Given the description of an element on the screen output the (x, y) to click on. 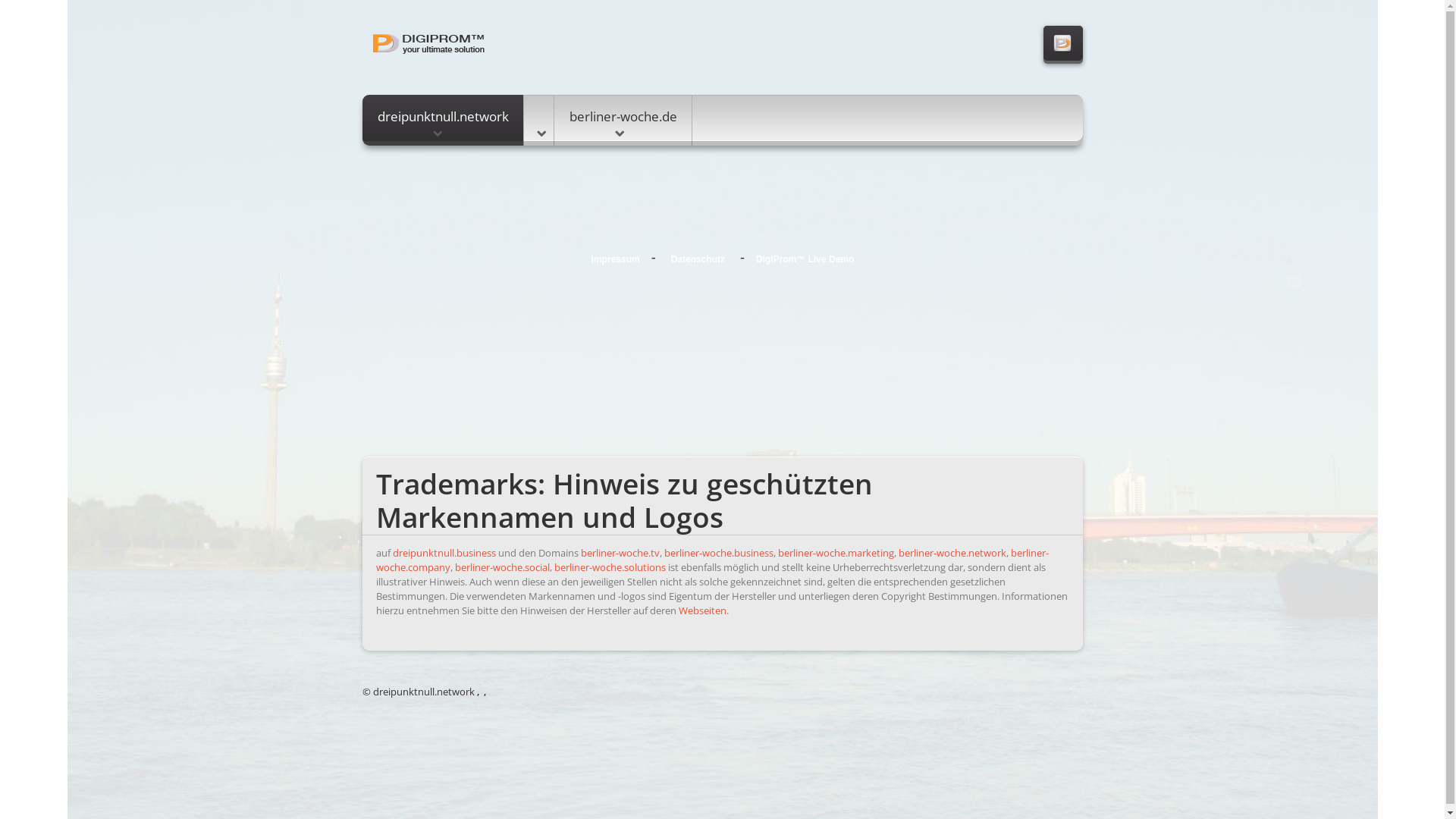
berliner-woche.company Element type: text (712, 560)
berliner-woche.tv Element type: text (619, 552)
berliner-woche.de Element type: text (622, 119)
dreipunktnull.network Element type: text (443, 119)
berliner-woche.business Element type: text (718, 552)
berliner-woche.social Element type: text (502, 567)
berliner-woche.marketing Element type: text (836, 552)
dreipunktnull.business Element type: text (443, 552)
Webseiten. Element type: text (702, 610)
berliner-woche.network Element type: text (951, 552)
berliner-woche.solutions Element type: text (609, 567)
